Given the description of an element on the screen output the (x, y) to click on. 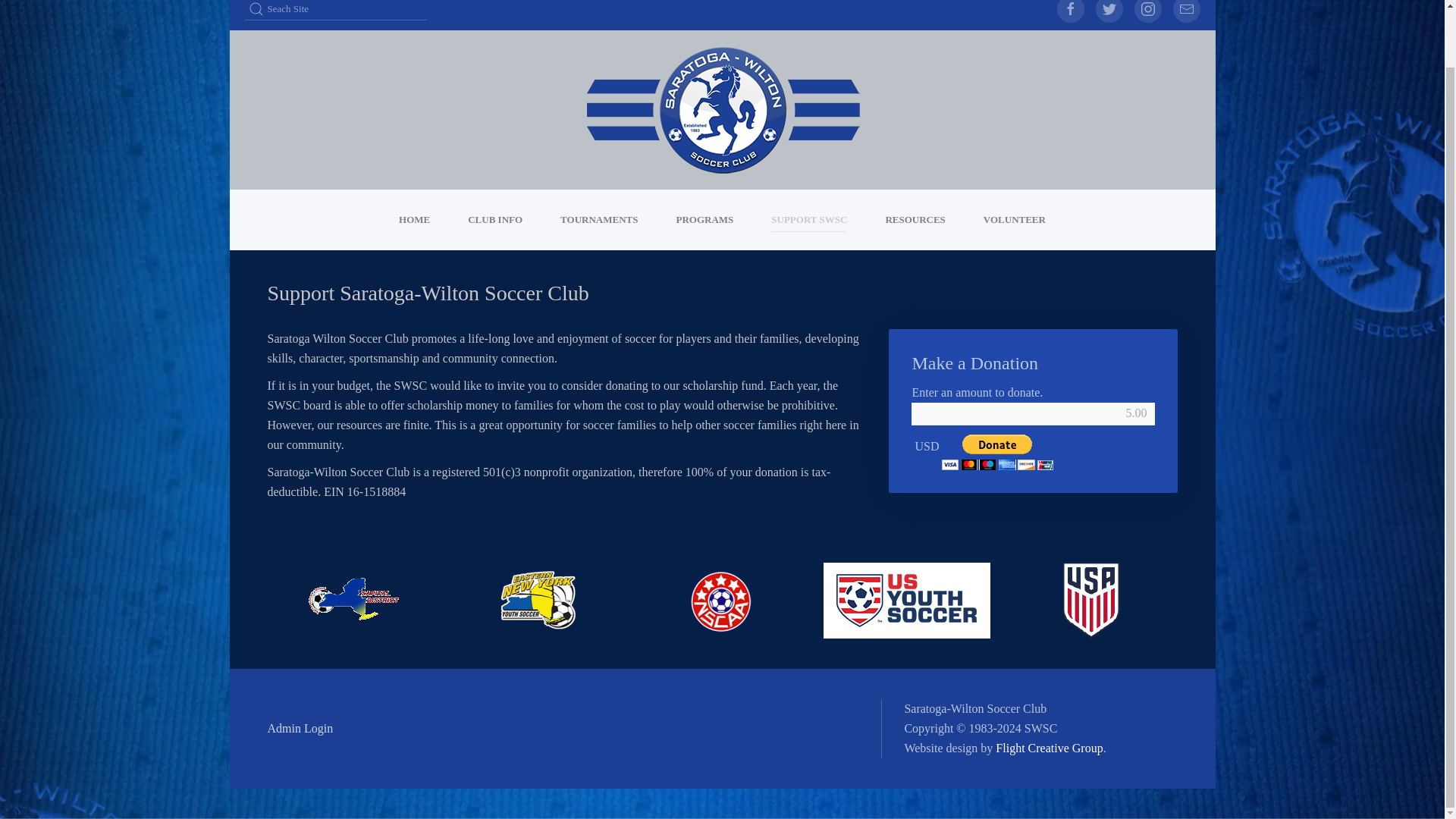
TOURNAMENTS (598, 219)
PROGRAMS (704, 219)
5.00 (1032, 413)
CLUB INFO (494, 219)
